Given the description of an element on the screen output the (x, y) to click on. 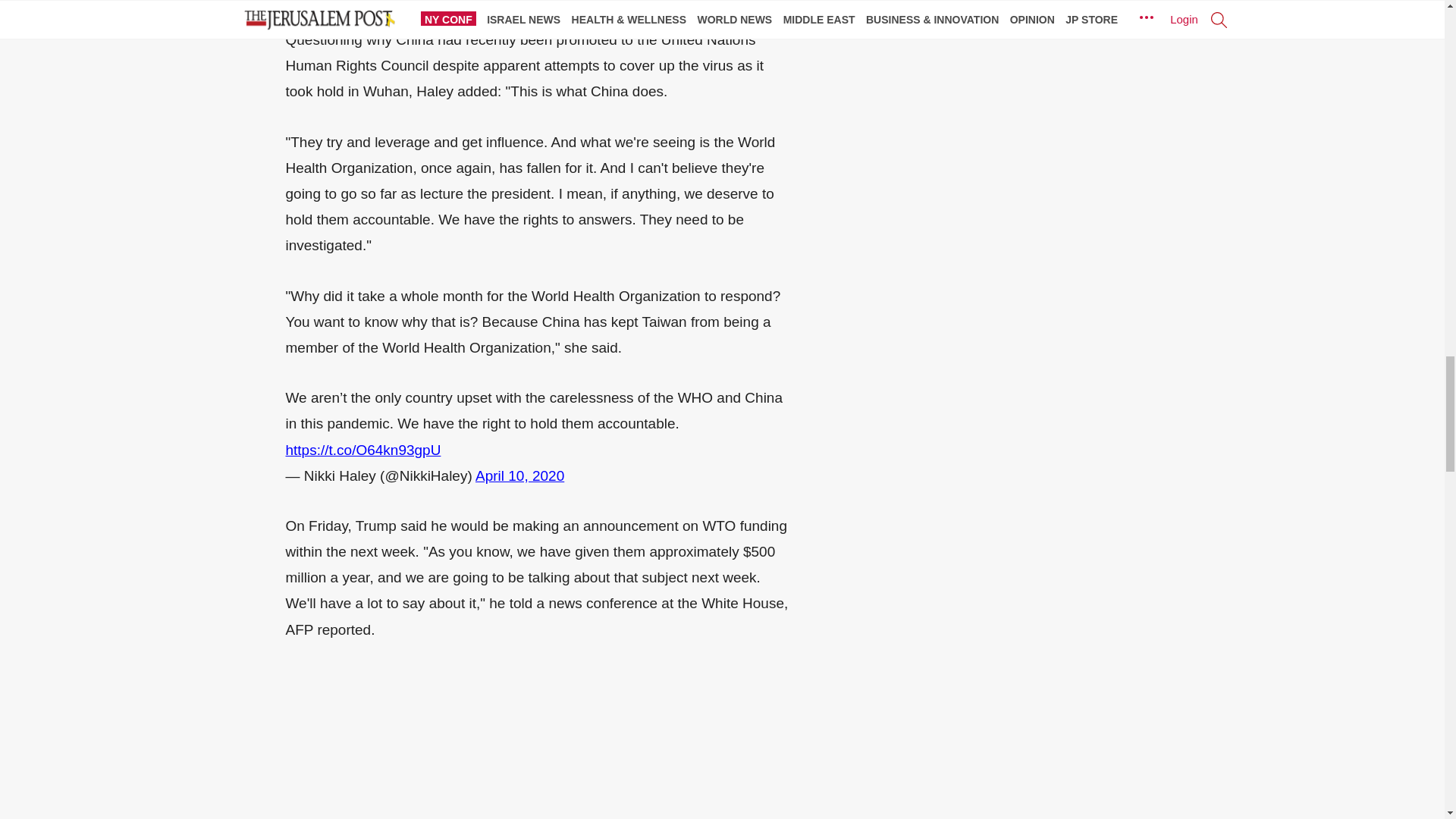
April 10, 2020 (520, 475)
